Given the description of an element on the screen output the (x, y) to click on. 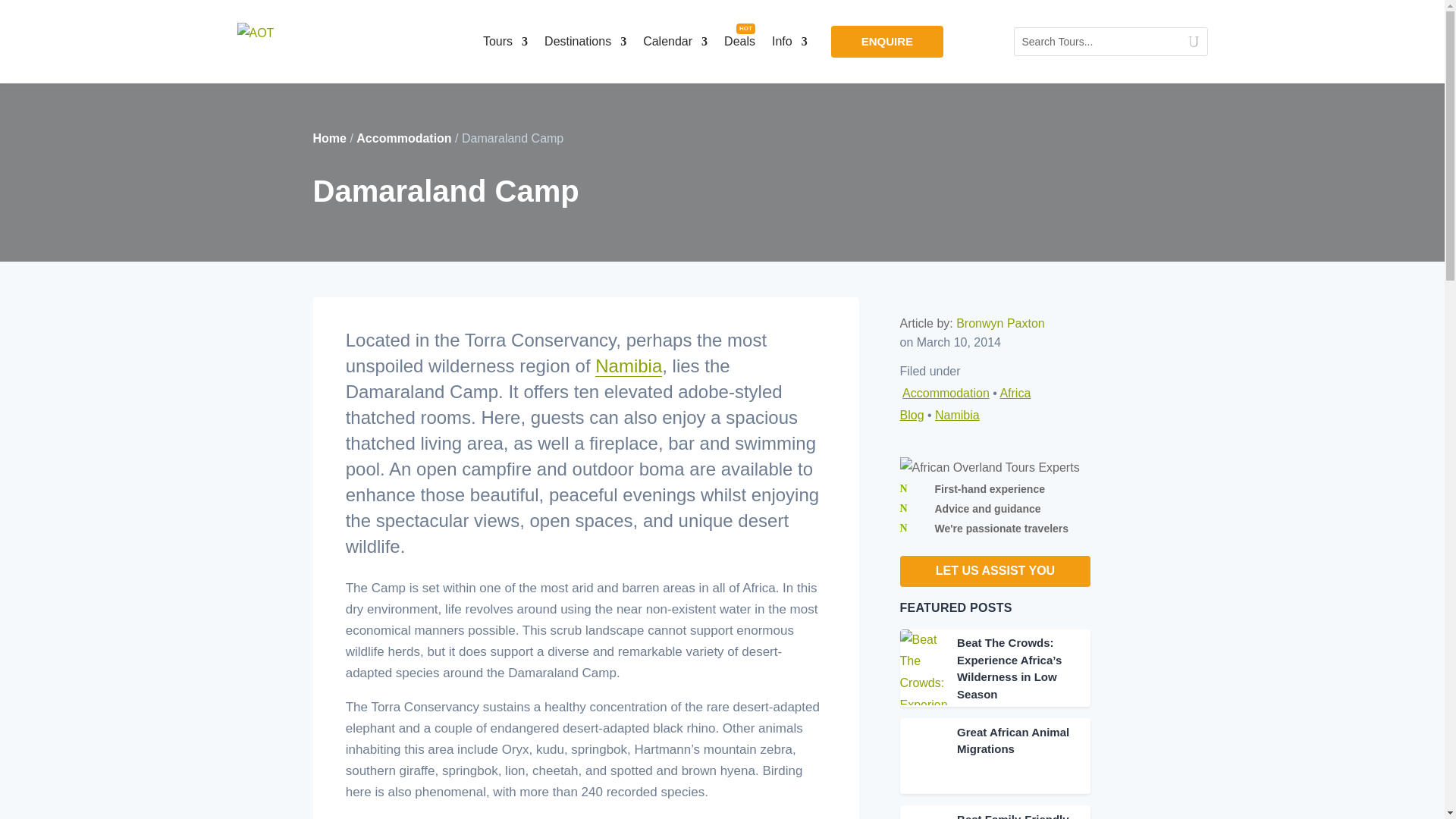
Destinations (585, 41)
Search (1185, 40)
Search (1185, 40)
Tours (505, 41)
